Given the description of an element on the screen output the (x, y) to click on. 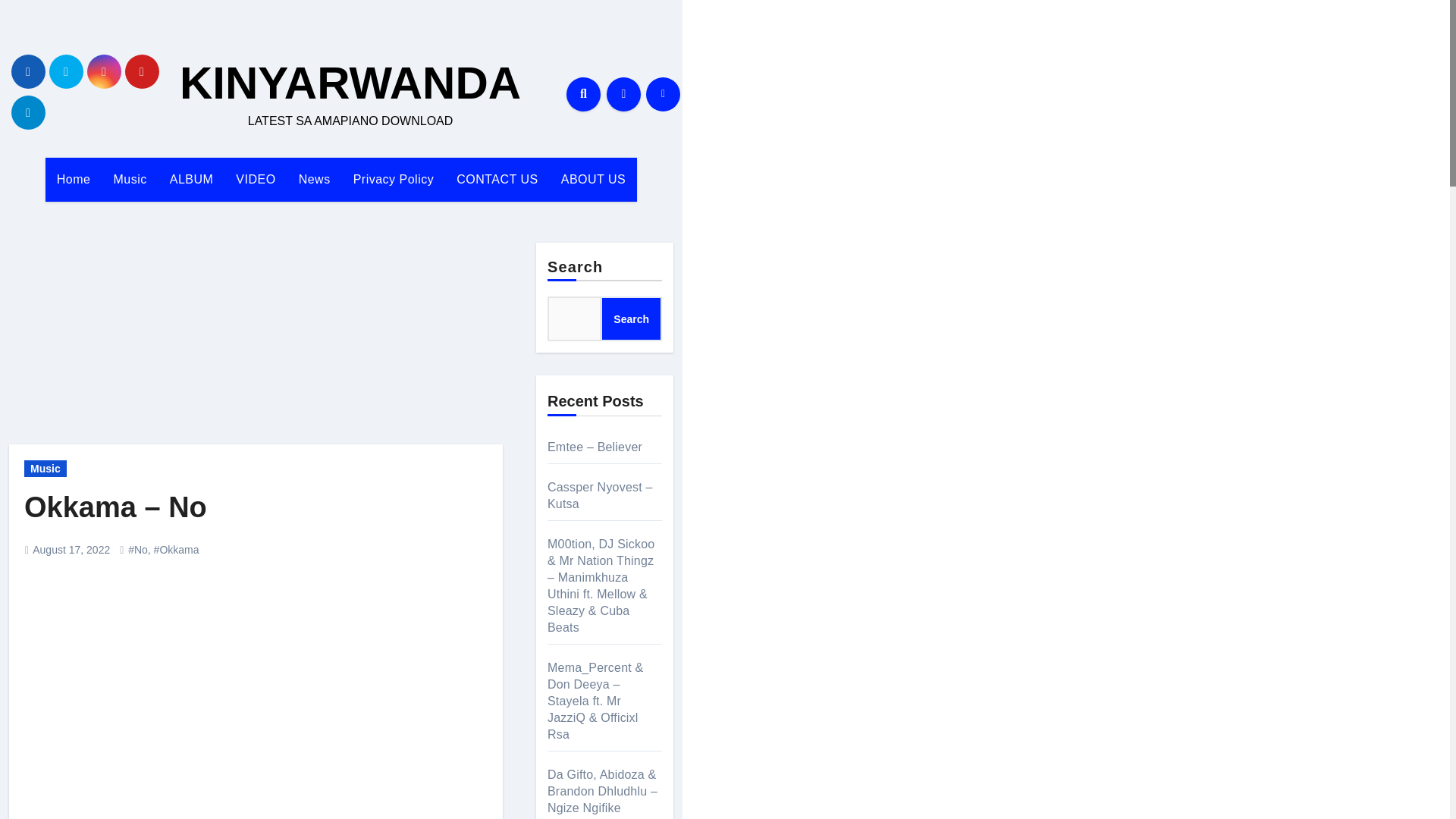
VIDEO (255, 179)
KINYARWANDA (350, 82)
Music (45, 468)
ALBUM (191, 179)
ALBUM (191, 179)
News (314, 179)
August 17, 2022 (71, 549)
Music (129, 179)
CONTACT US (497, 179)
VIDEO (255, 179)
ABOUT US (593, 179)
Home (73, 179)
CONTACT US (497, 179)
ABOUT US (593, 179)
News (314, 179)
